Given the description of an element on the screen output the (x, y) to click on. 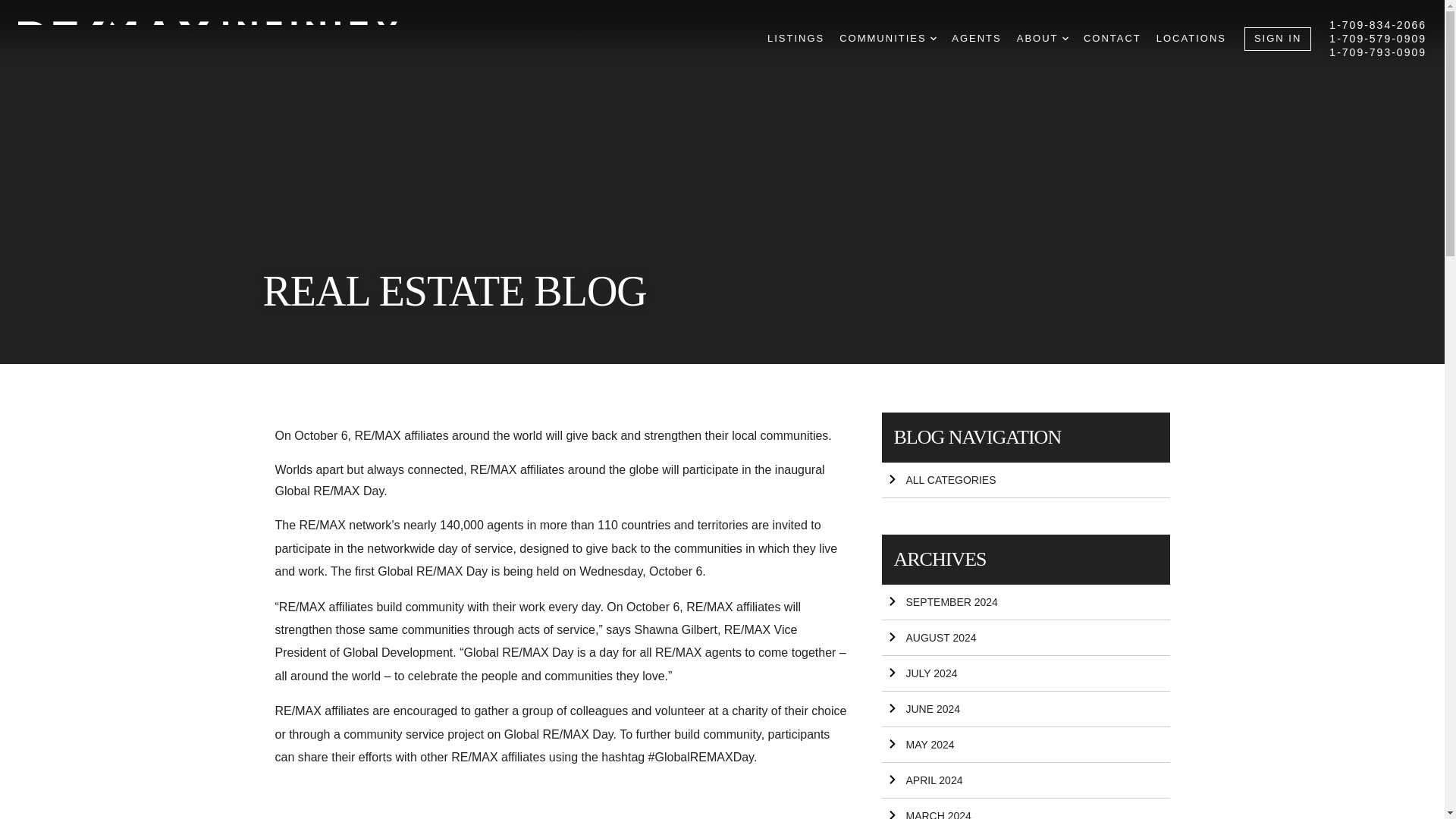
COMMUNITIES DROPDOWN ARROW (888, 38)
LOCATIONS (1190, 38)
DROPDOWN ARROW (933, 38)
DROPDOWN ARROW (1065, 38)
1-709-579-0909 (1377, 38)
LISTINGS (795, 38)
SIGN IN (1277, 38)
1-709-834-2066 (1377, 24)
CONTACT (1112, 38)
1-709-793-0909 (1377, 51)
